Given the description of an element on the screen output the (x, y) to click on. 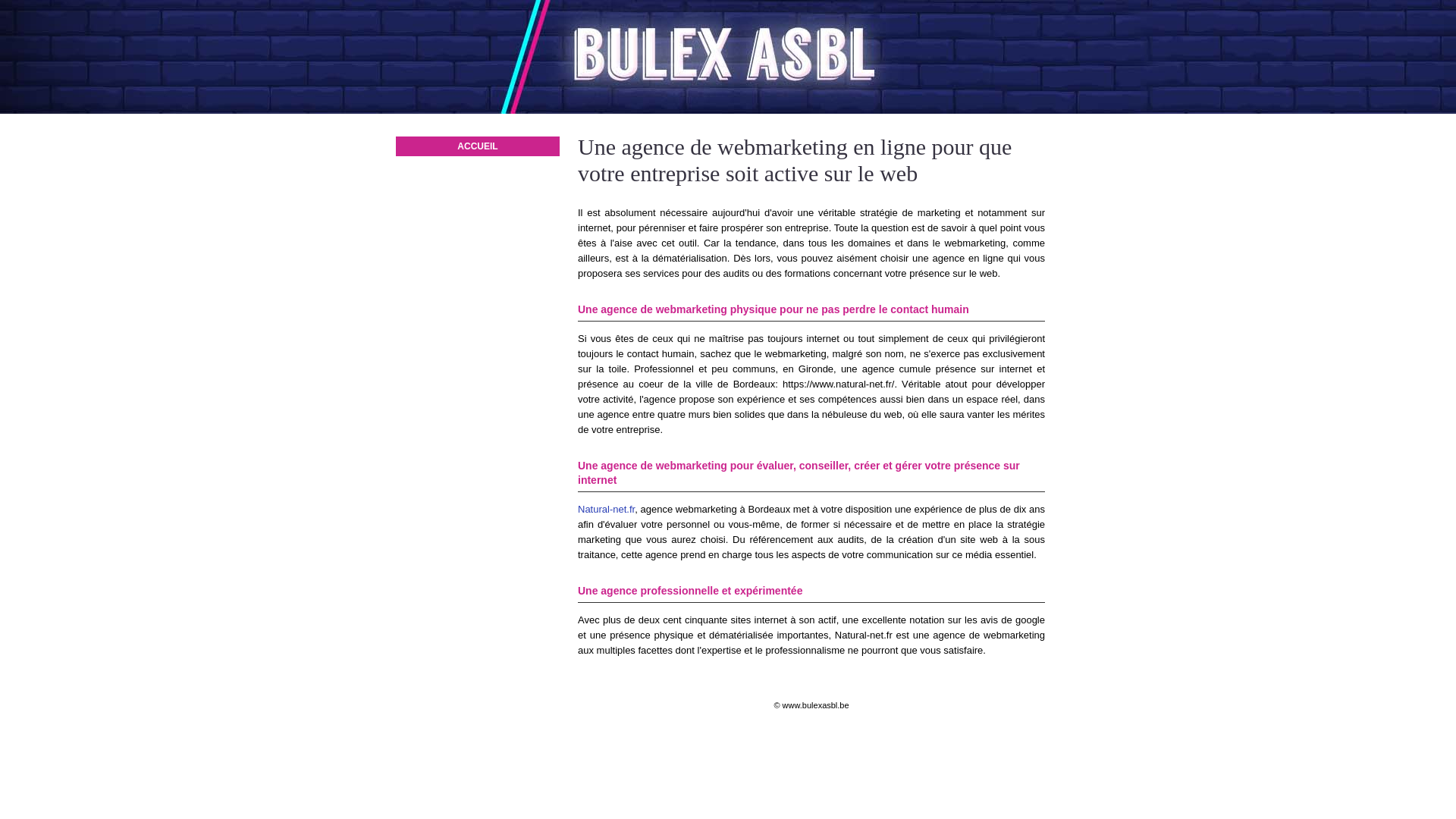
ACCUEIL Element type: text (477, 146)
Natural-net.fr Element type: text (605, 508)
